Given the description of an element on the screen output the (x, y) to click on. 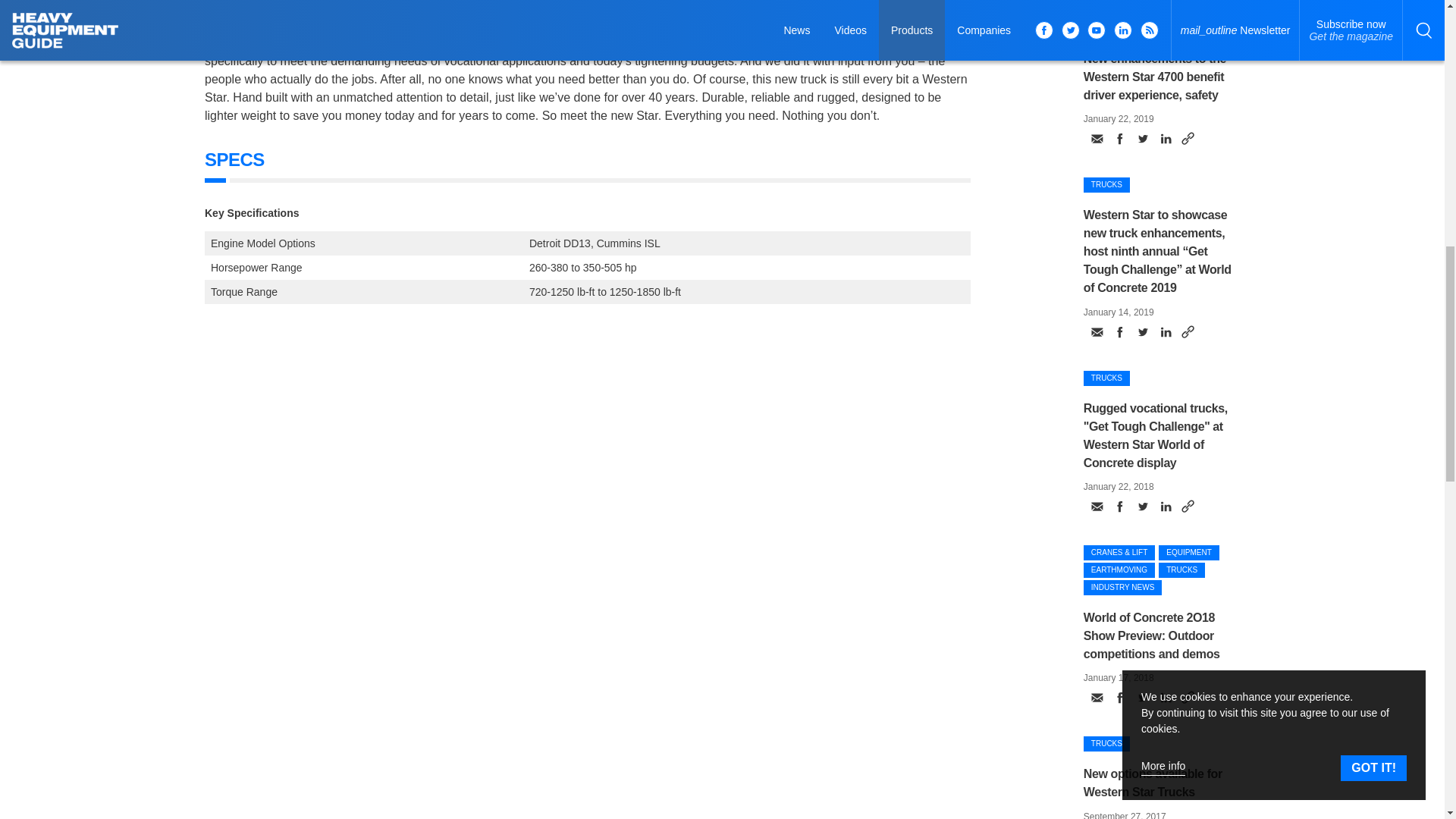
TRUCKS (1106, 28)
